Given the description of an element on the screen output the (x, y) to click on. 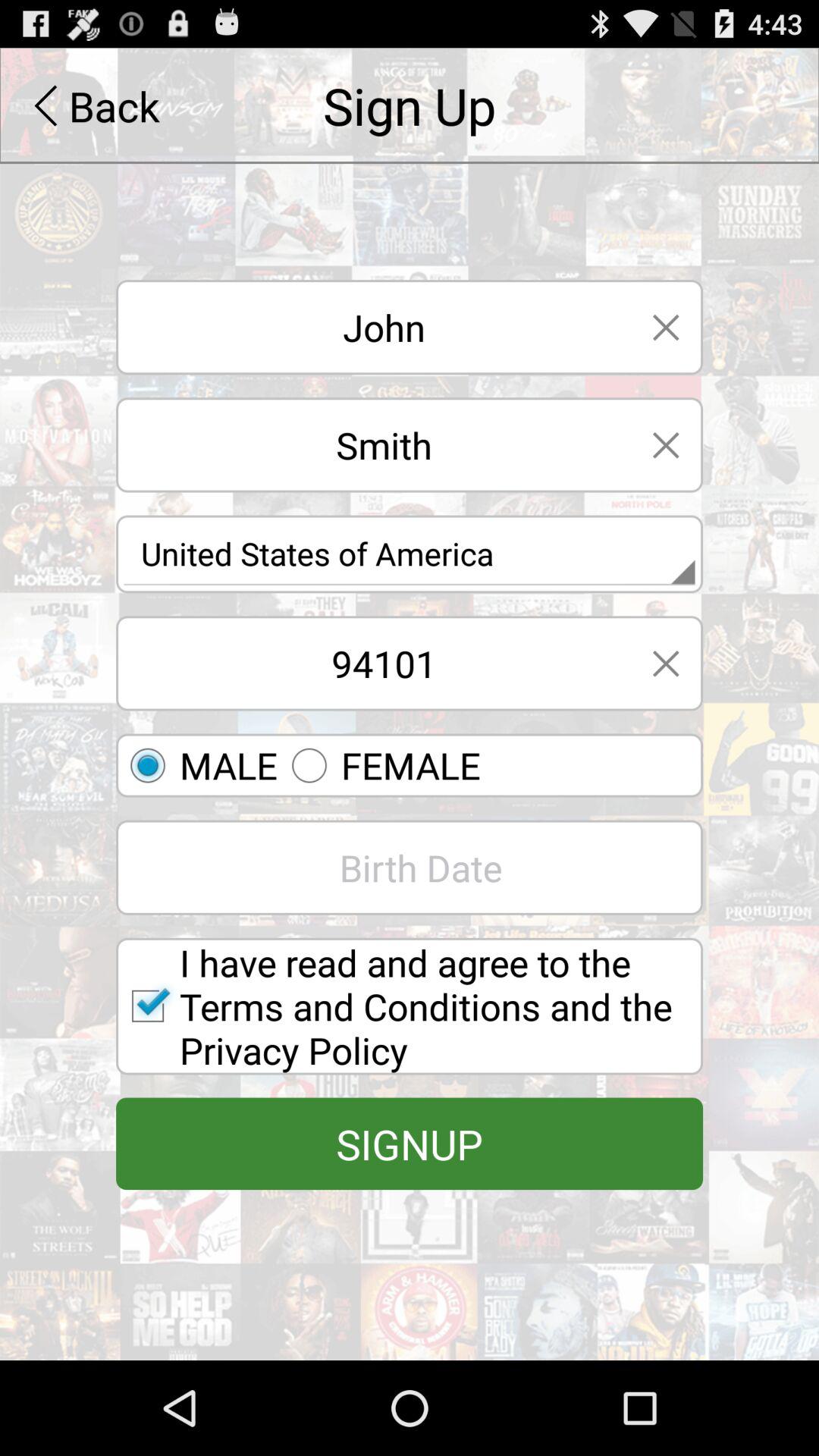
delete data (665, 444)
